Given the description of an element on the screen output the (x, y) to click on. 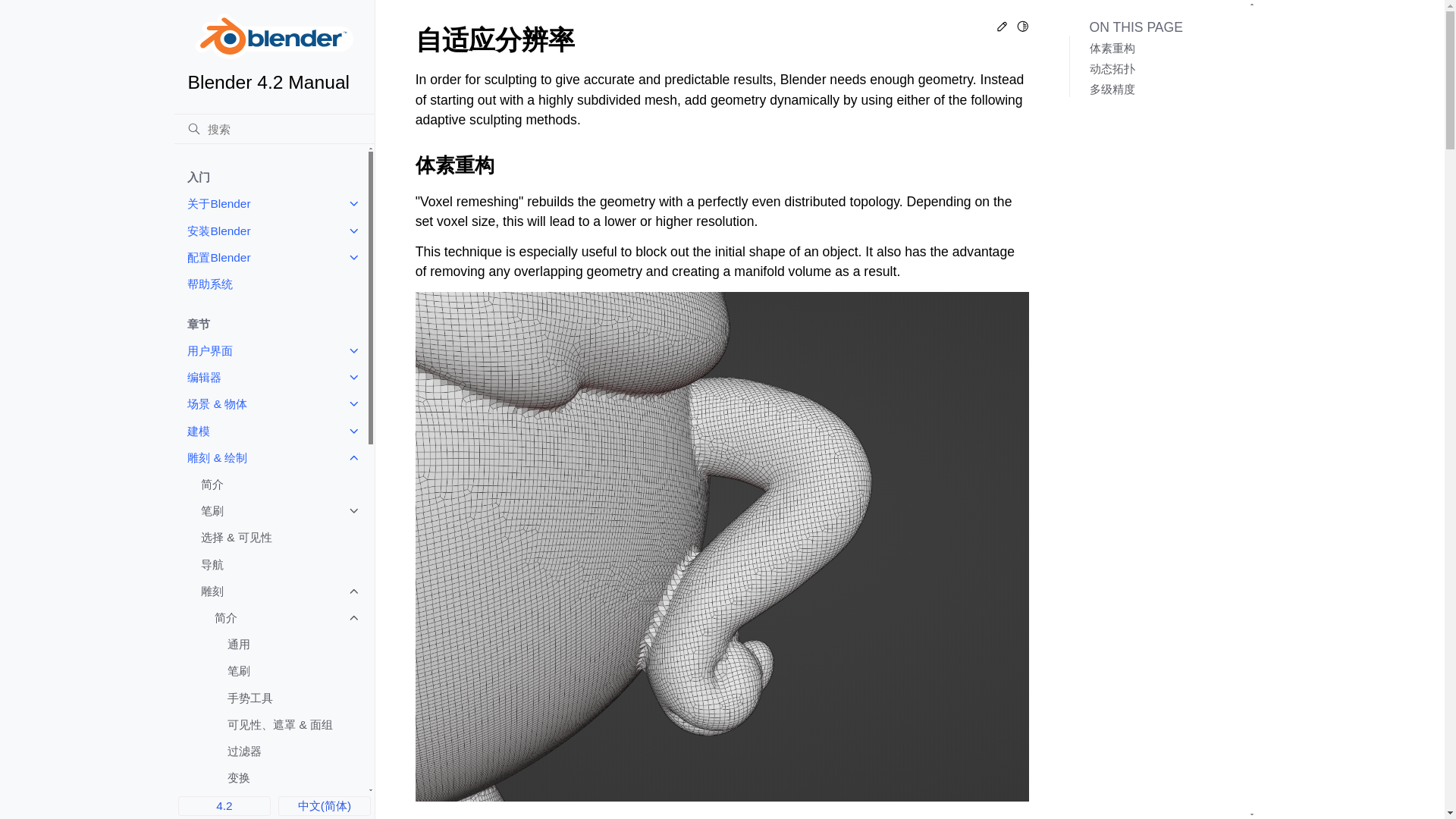
Edit this page (1002, 28)
Blender 4.2 Manual (274, 53)
